Given the description of an element on the screen output the (x, y) to click on. 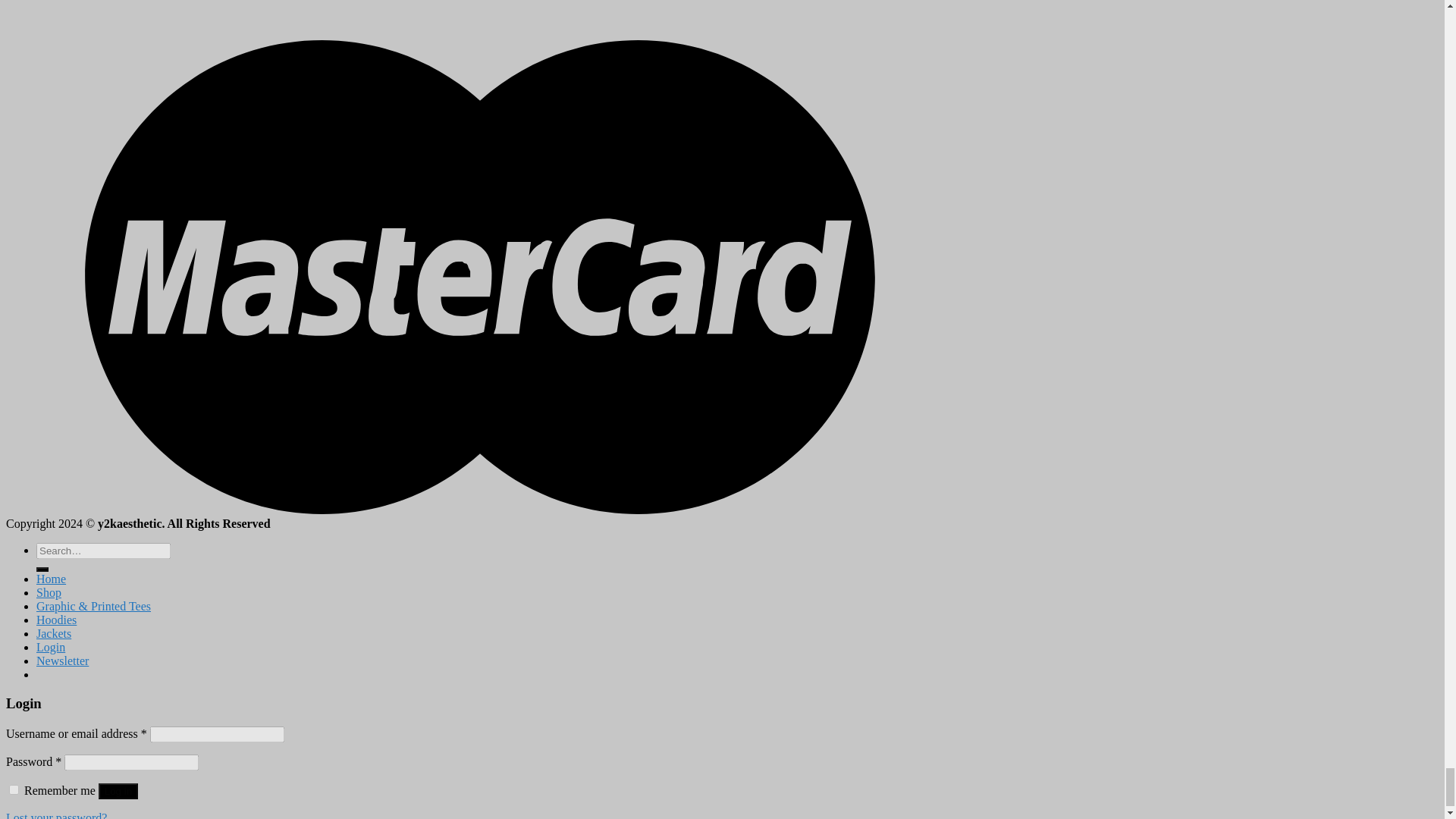
forever (13, 789)
